Given the description of an element on the screen output the (x, y) to click on. 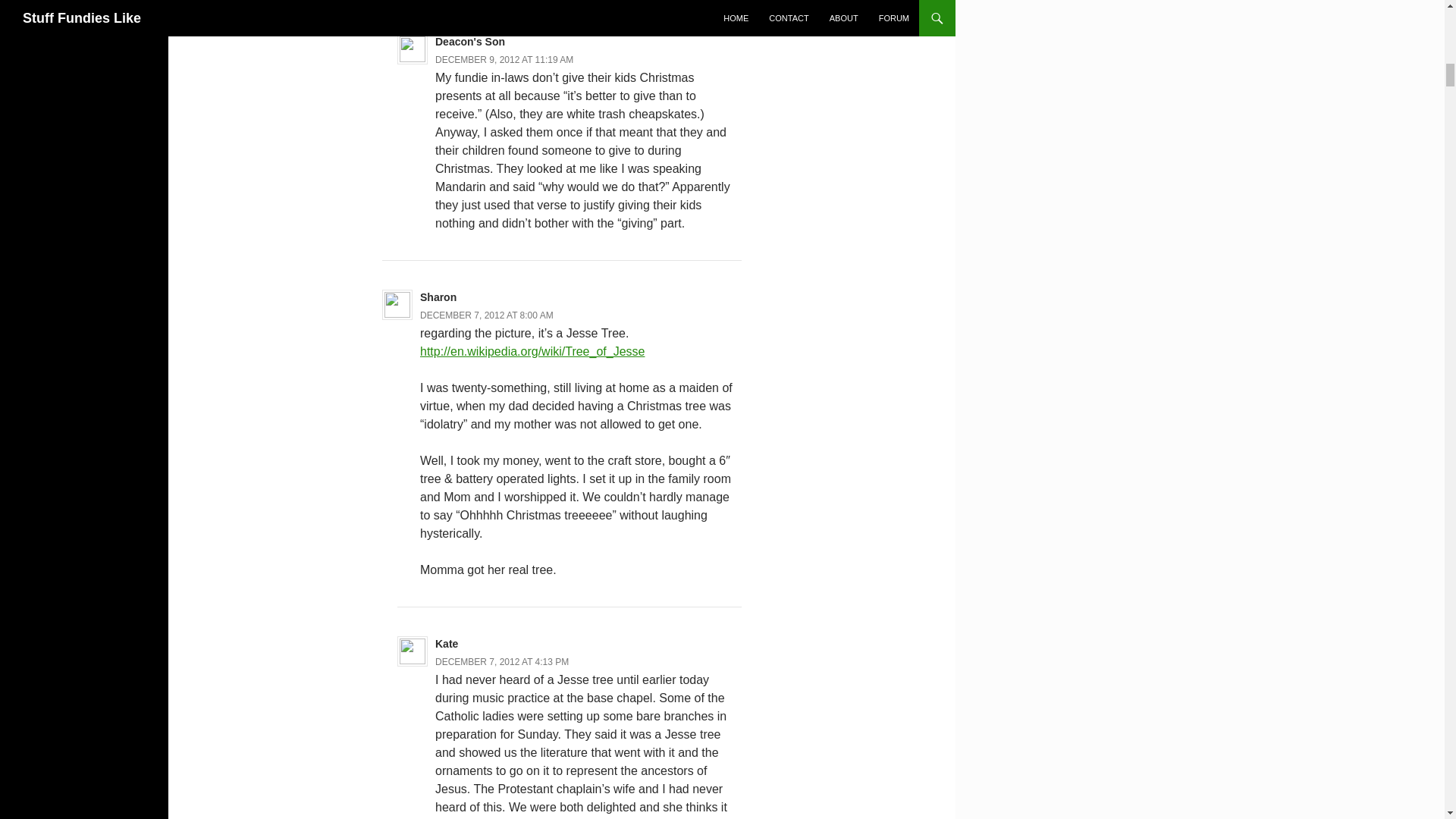
DECEMBER 7, 2012 AT 4:13 PM (502, 661)
DECEMBER 7, 2012 AT 8:00 AM (486, 315)
DECEMBER 9, 2012 AT 11:19 AM (504, 59)
